Given the description of an element on the screen output the (x, y) to click on. 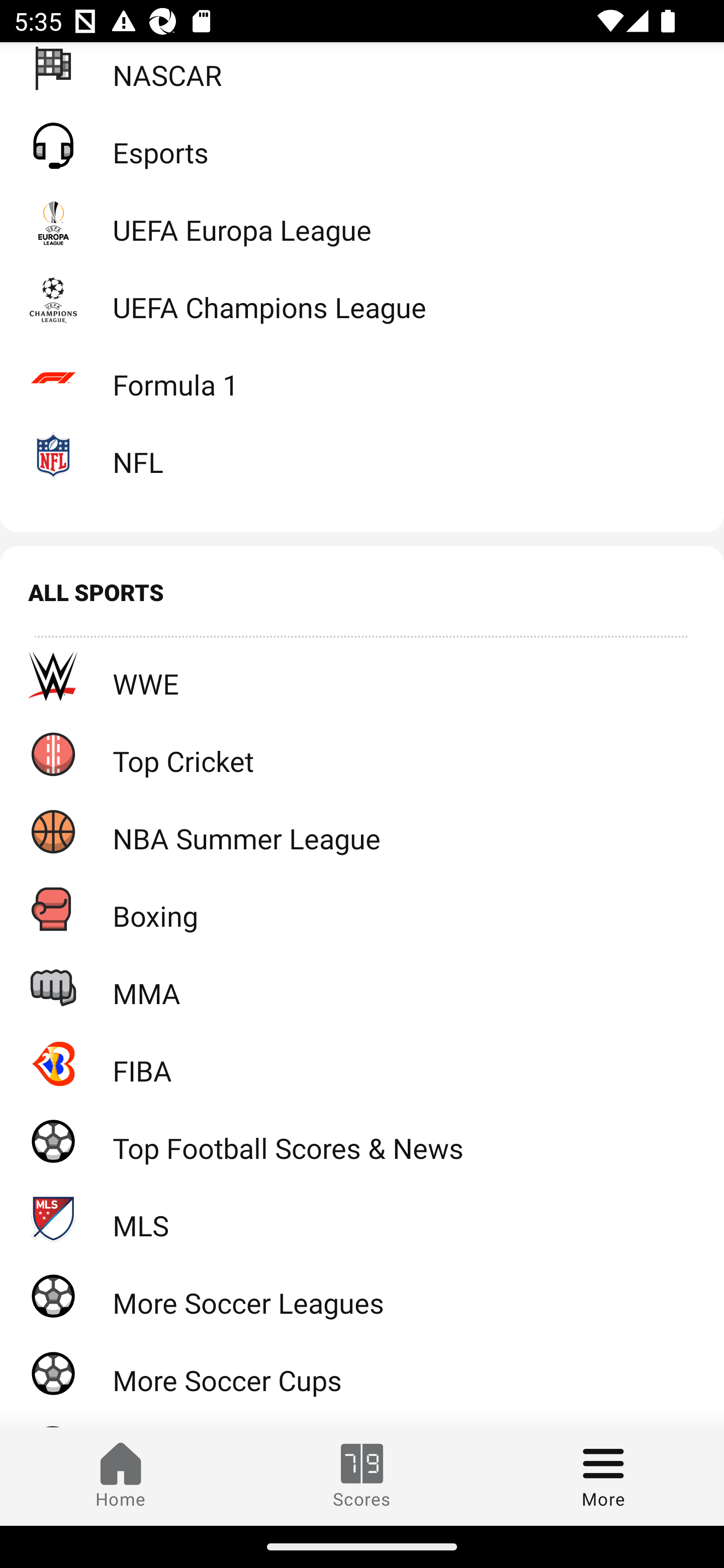
NASCAR (362, 74)
Esports (362, 144)
UEFA Europa League (362, 222)
UEFA Champions League (362, 299)
Formula 1 (362, 376)
NFL (362, 454)
WWE (362, 676)
Top Cricket (362, 753)
NBA Summer League (362, 830)
Boxing (362, 908)
MMA (362, 986)
FIBA  (362, 1063)
Top Football Scores & News (362, 1140)
MLS (362, 1218)
More Soccer Leagues (362, 1295)
More Soccer Cups (362, 1372)
Home (120, 1475)
Scores (361, 1475)
